Given the description of an element on the screen output the (x, y) to click on. 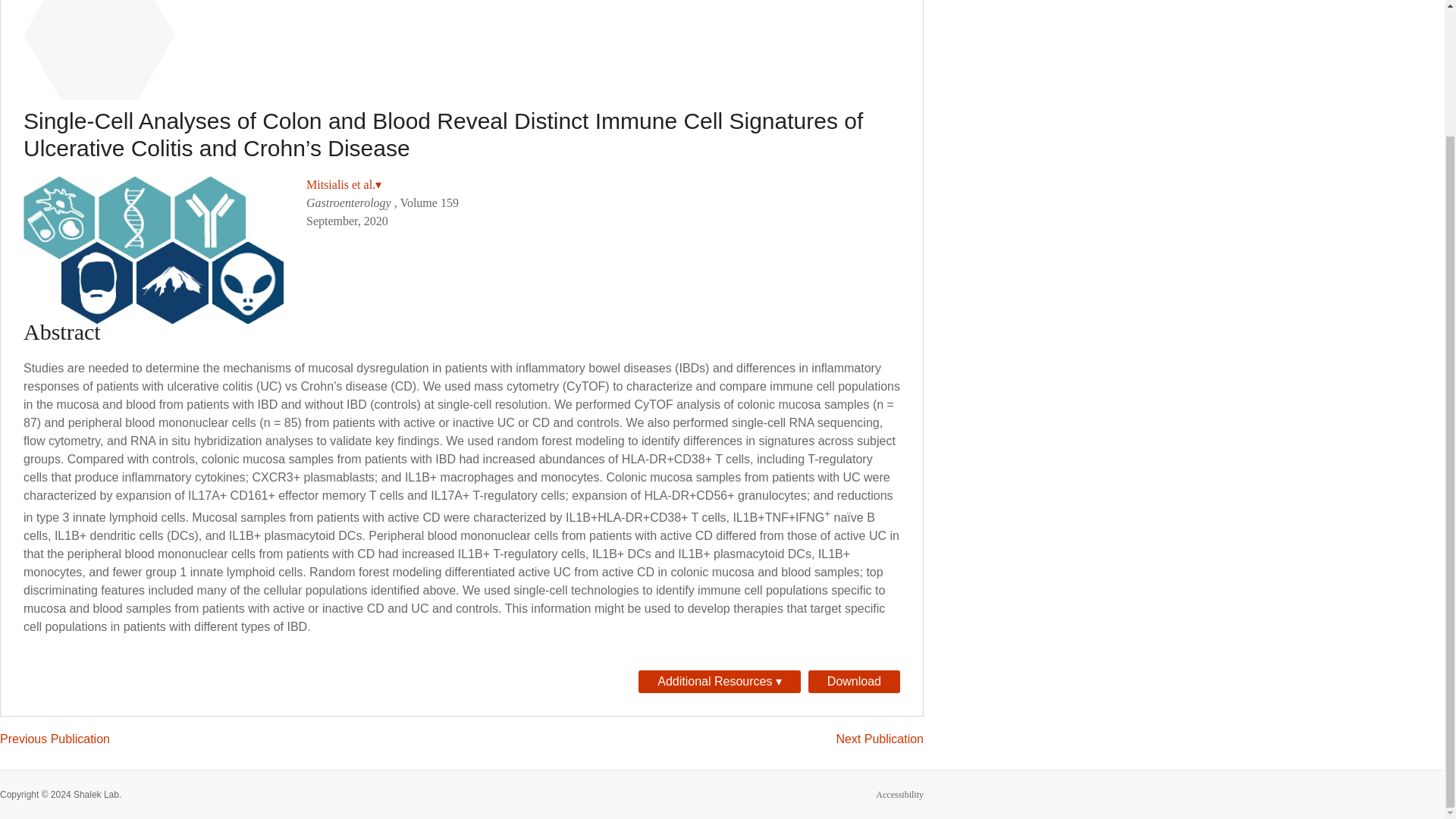
Previous Publication (55, 739)
Download (853, 681)
Download (853, 681)
Accessibility (899, 794)
Next Publication (879, 739)
